Given the description of an element on the screen output the (x, y) to click on. 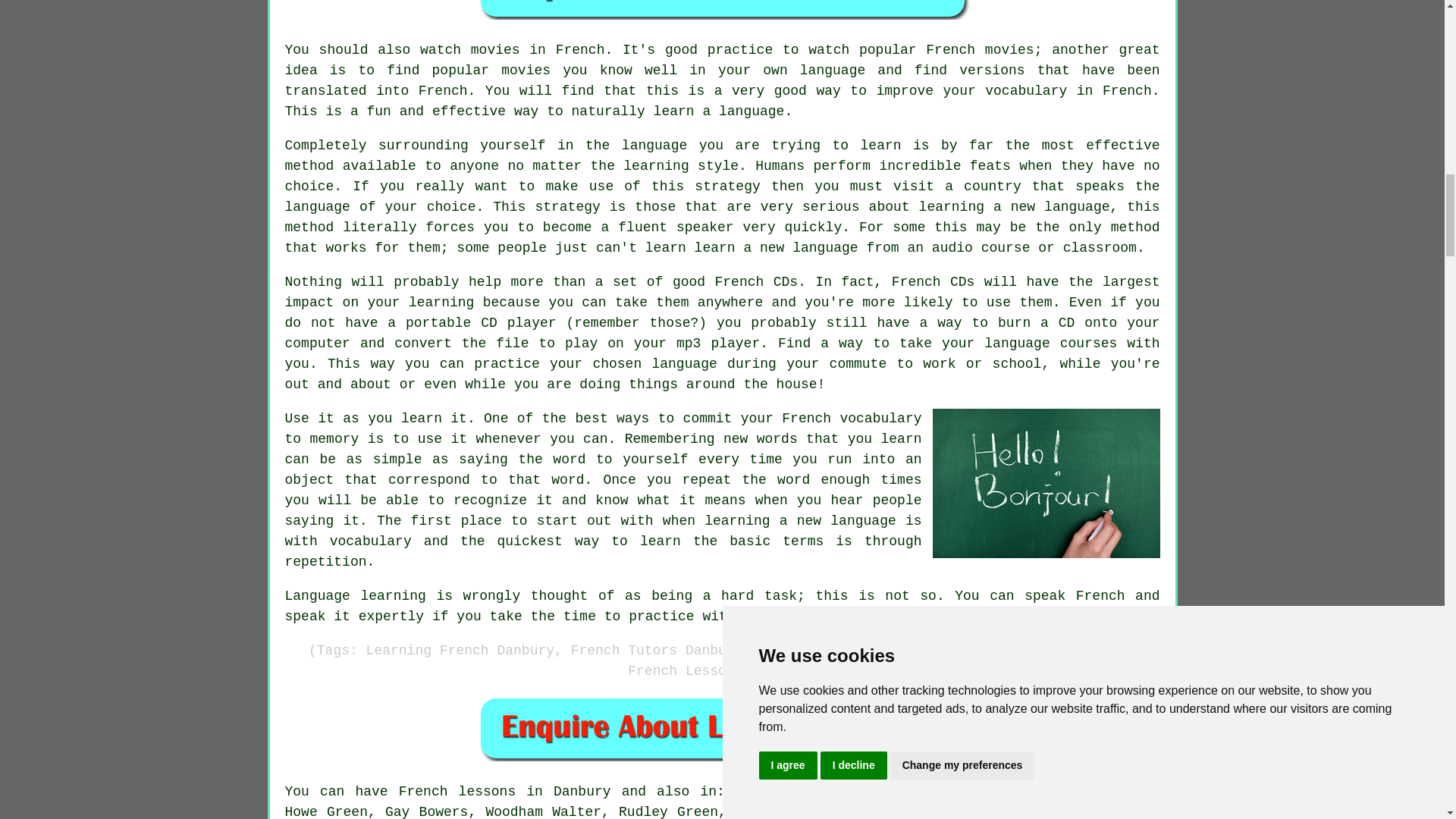
French Lessons Quotes in Danbury Essex (722, 9)
French lessons (457, 791)
Book French Lessons in Danbury UK (722, 728)
French Teachers Danbury Essex (1046, 482)
